Given the description of an element on the screen output the (x, y) to click on. 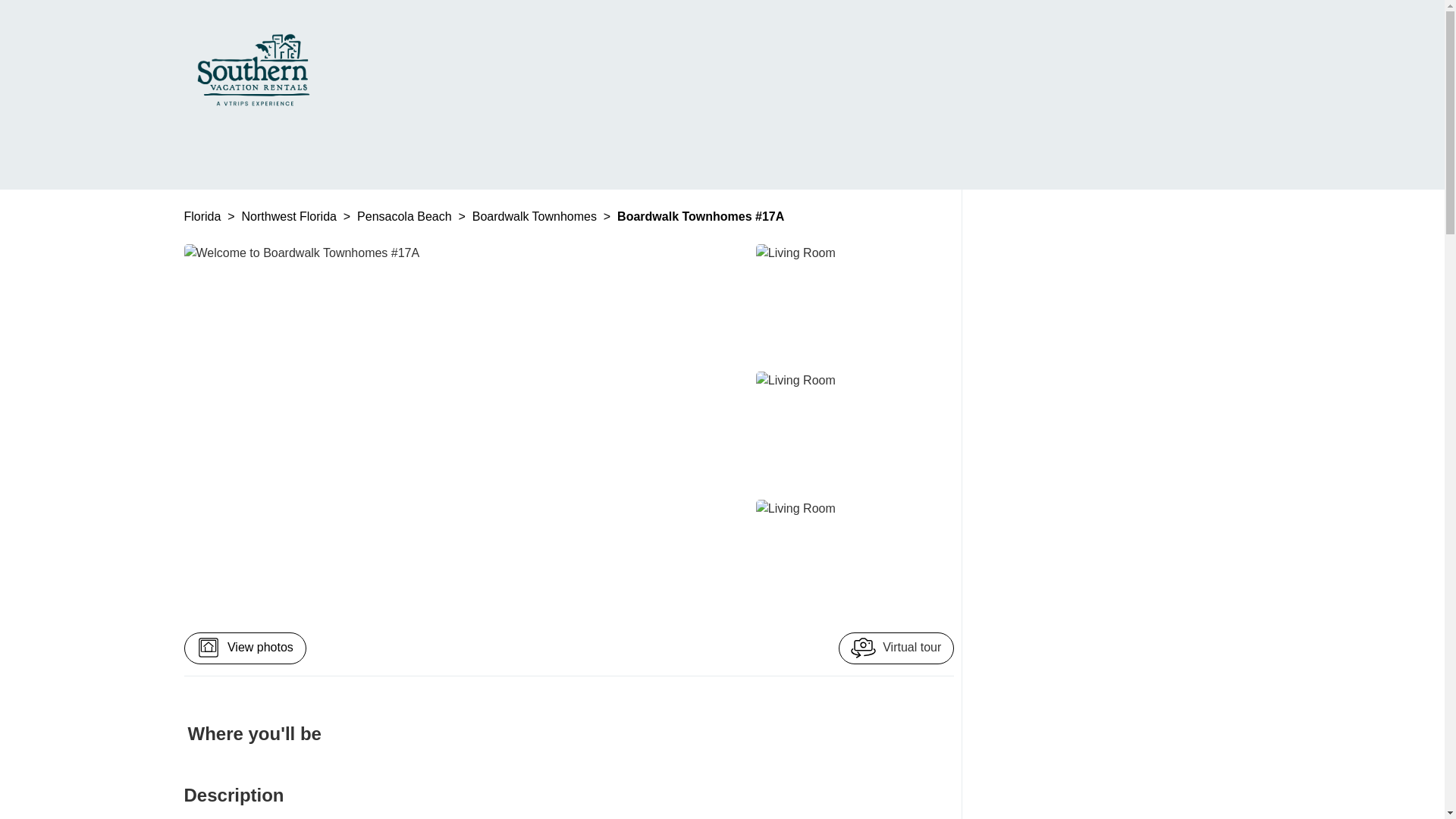
Living Room (850, 432)
Pensacola Beach (405, 215)
Florida (203, 215)
View photos (244, 648)
Living Room (850, 304)
Virtual tour (896, 648)
Living Room (850, 559)
Northwest Florida (290, 215)
Boardwalk Townhomes (535, 215)
